Given the description of an element on the screen output the (x, y) to click on. 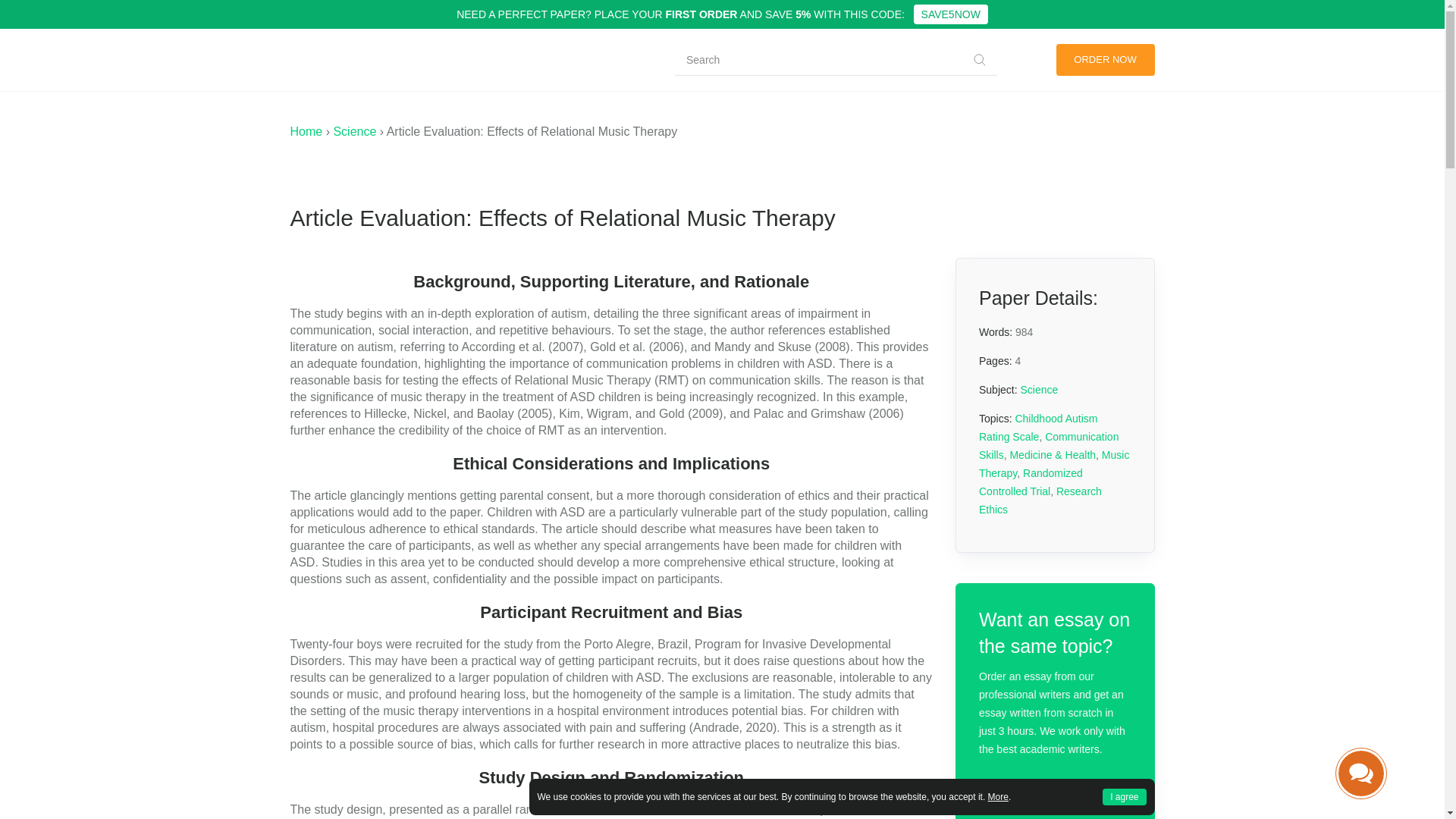
Music Therapy (1053, 463)
Science (354, 131)
More (998, 796)
Randomized Controlled Trial (1030, 481)
Communication Skills (1048, 445)
Science (1039, 389)
SAVE5NOW (951, 14)
Research Ethics (1040, 500)
ORDER NOW (1104, 60)
I agree (1123, 796)
PLACE AN ORDER (1054, 797)
Home (305, 131)
Childhood Autism Rating Scale (1037, 427)
